Given the description of an element on the screen output the (x, y) to click on. 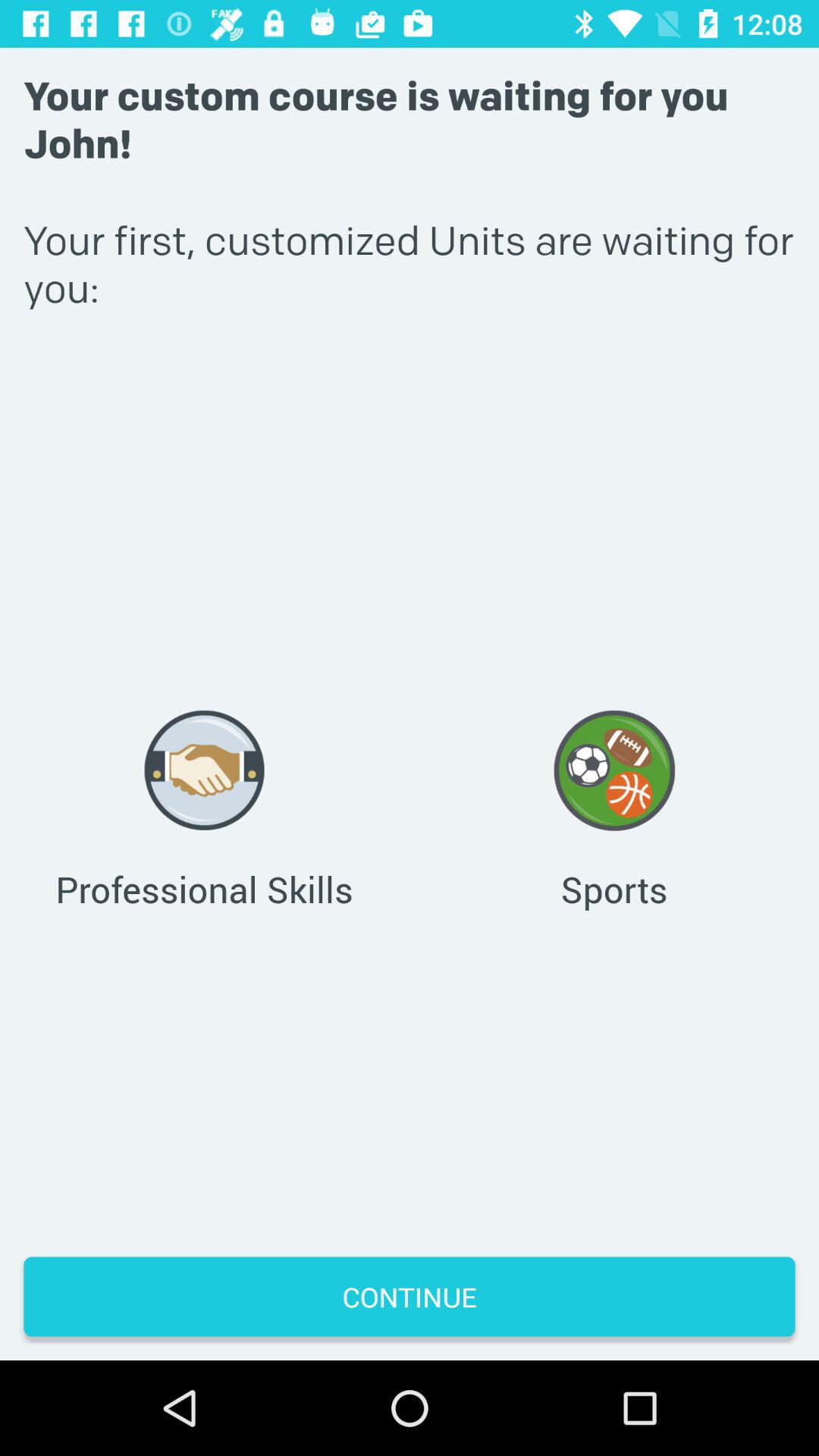
jump to the continue (409, 1296)
